Given the description of an element on the screen output the (x, y) to click on. 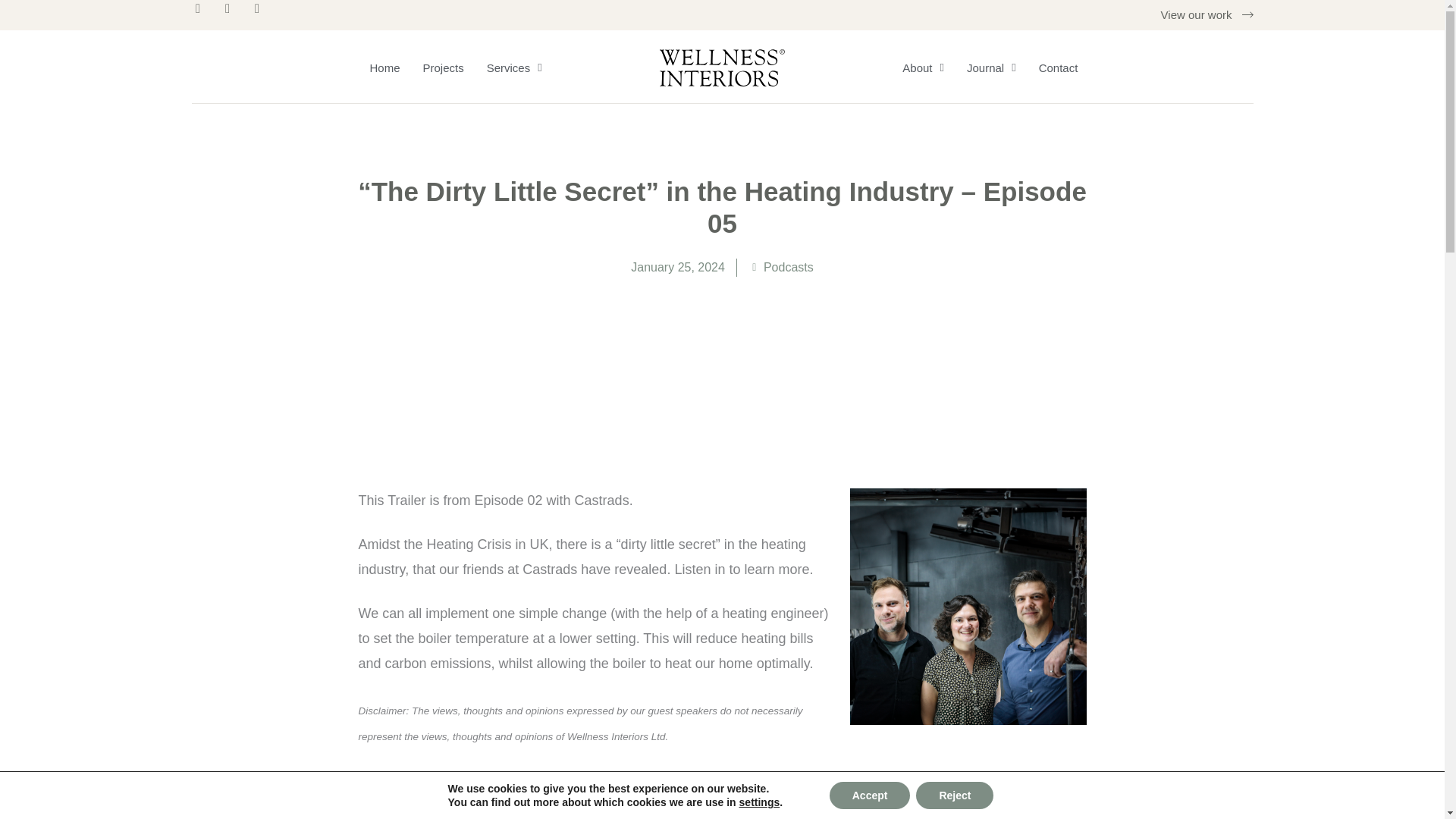
Services (513, 67)
About (922, 67)
Facebook (234, 14)
Home (383, 67)
Instagram (203, 14)
View our work (1206, 15)
Journal (991, 67)
Projects (443, 67)
Contact (1058, 67)
Linkedin (263, 14)
